Given the description of an element on the screen output the (x, y) to click on. 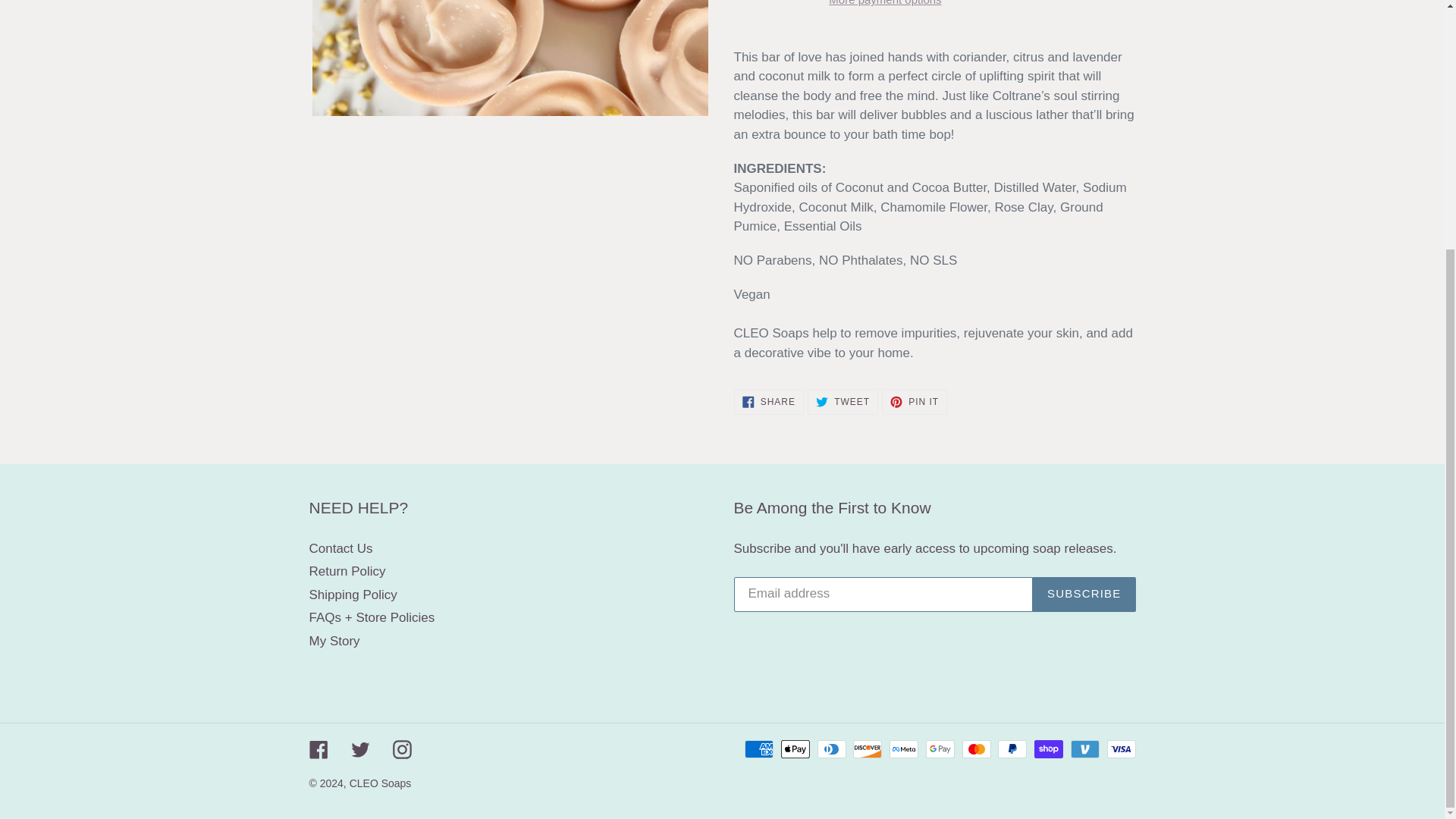
Instagram (402, 749)
CLEO Soaps (380, 783)
Return Policy (768, 401)
More payment options (914, 401)
SUBSCRIBE (346, 571)
Shipping Policy (884, 4)
Facebook (1083, 594)
My Story (352, 594)
Twitter (318, 749)
Contact Us (333, 640)
